Given the description of an element on the screen output the (x, y) to click on. 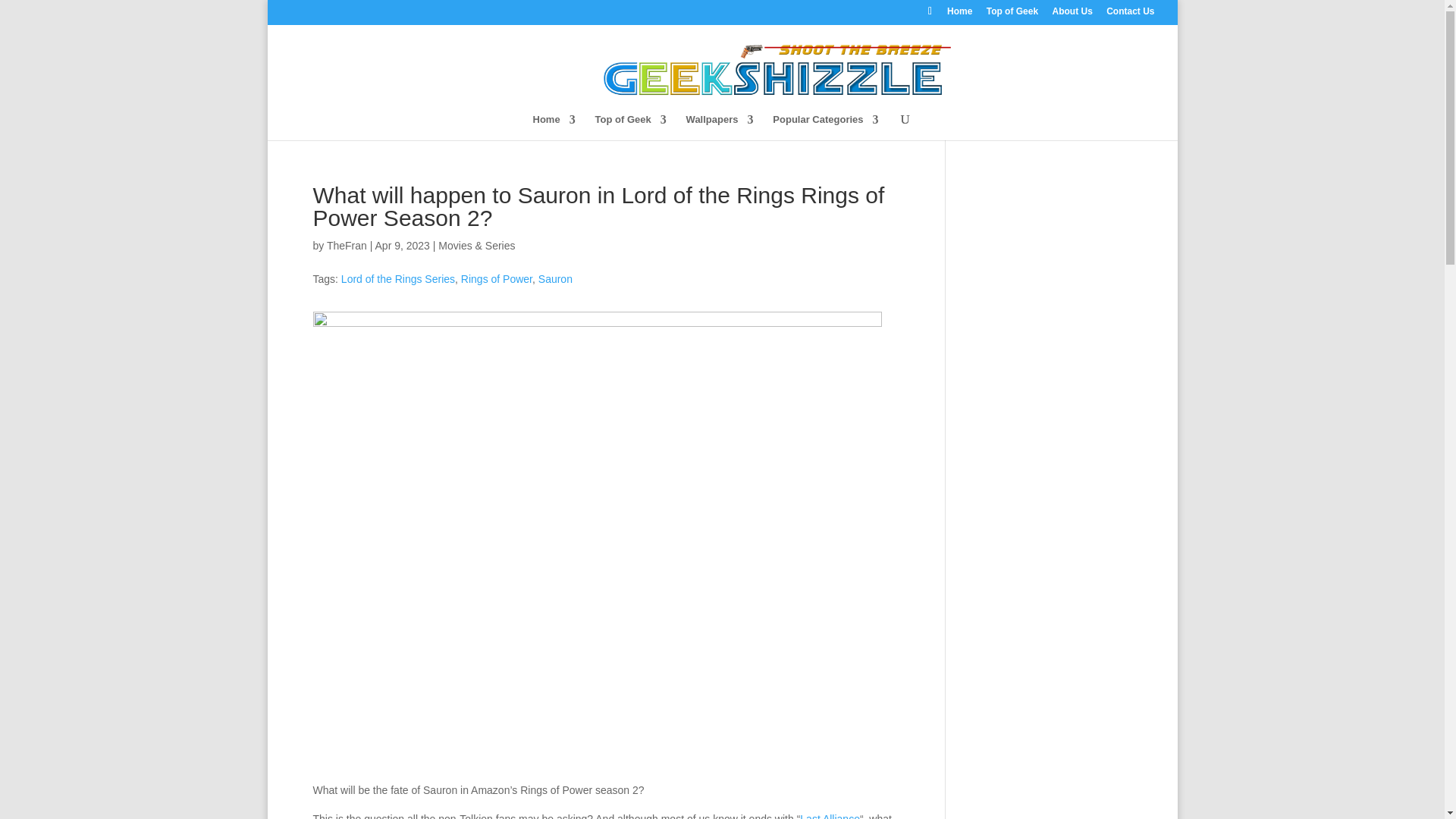
Sauron (555, 278)
Rings of Power (496, 278)
Top of Geek (630, 126)
TheFran (346, 245)
Wallpapers (719, 126)
Posts by TheFran (346, 245)
Last Alliance (829, 816)
Popular Categories (825, 126)
Top of Geek (1012, 14)
Lord of the Rings Series (397, 278)
Home (553, 126)
Contact Us (1130, 14)
About Us (1071, 14)
Home (959, 14)
